Given the description of an element on the screen output the (x, y) to click on. 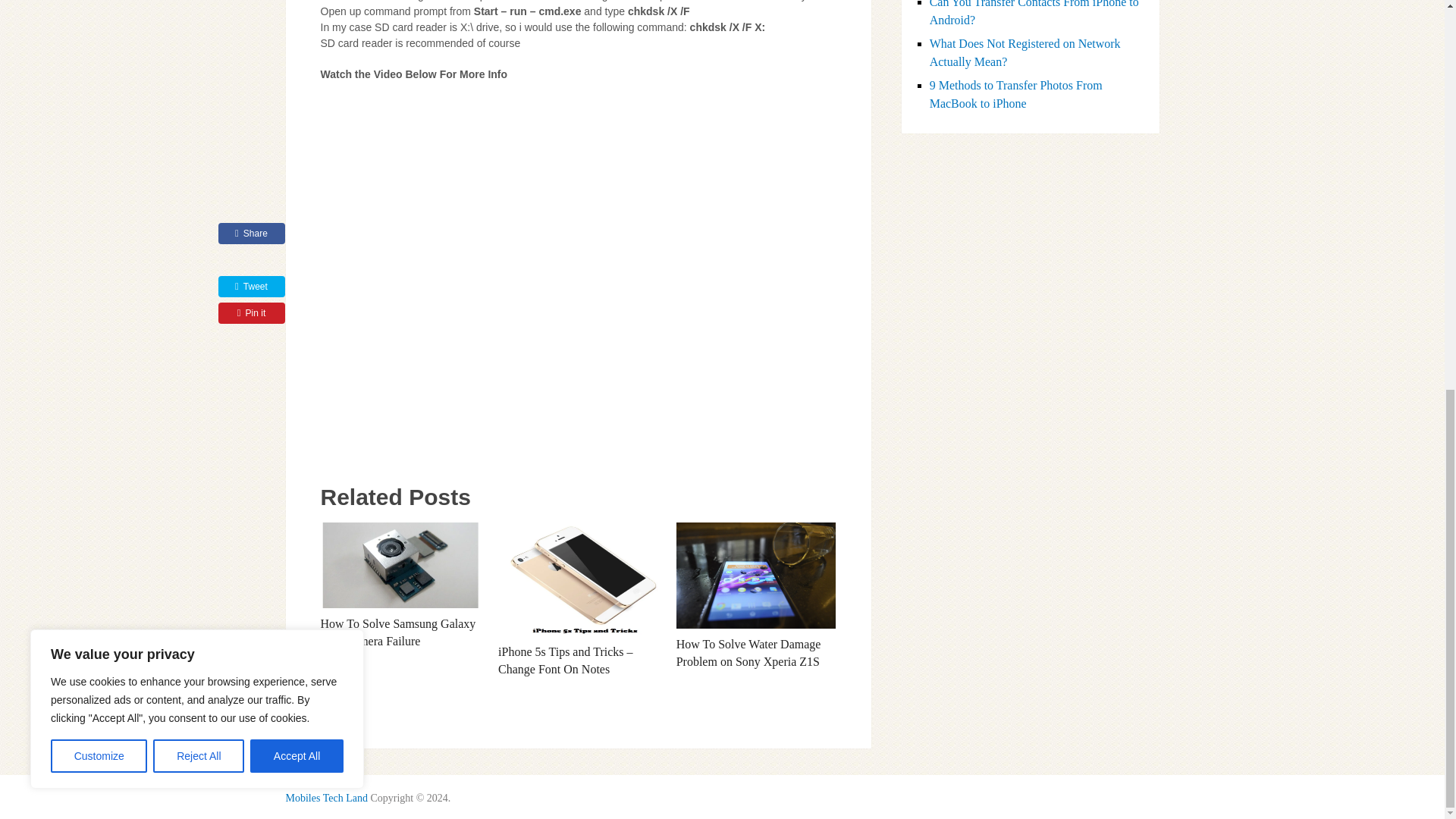
How To Solve Water Damage Problem on Sony Xperia Z1S (756, 575)
Customize (98, 15)
 Mobiles Tech Land (325, 797)
Accept All (296, 15)
How To Solve Water Damage Problem on Sony Xperia Z1S (749, 652)
Reject All (198, 15)
